Given the description of an element on the screen output the (x, y) to click on. 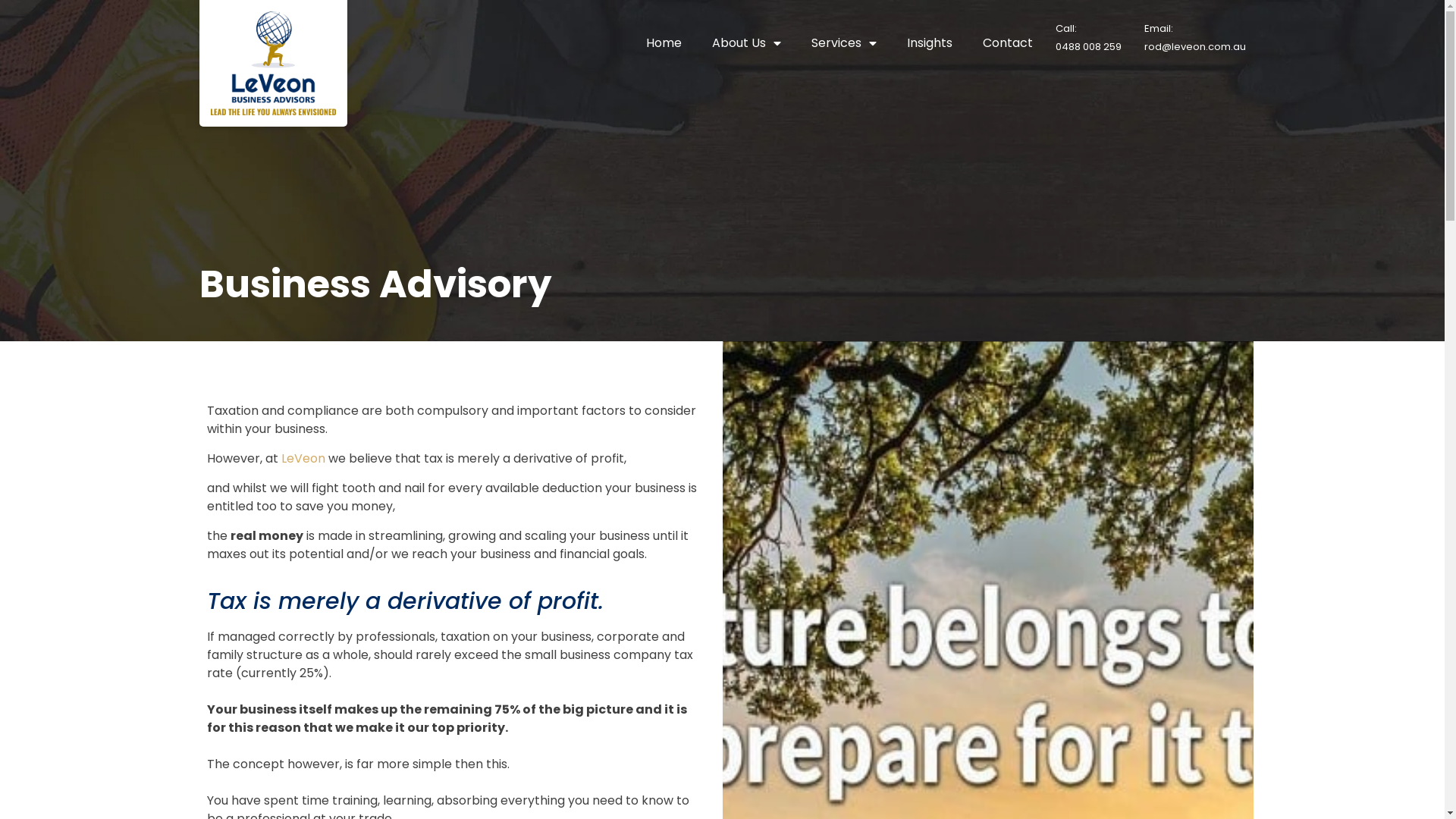
Insights Element type: text (929, 42)
Contact Element type: text (1007, 42)
Home Element type: text (663, 42)
Call:
0488 008 259 Element type: text (1088, 37)
Services Element type: text (843, 42)
About Us Element type: text (745, 42)
Email:
rod@leveon.com.au Element type: text (1194, 37)
LeVeon Element type: text (302, 458)
